Given the description of an element on the screen output the (x, y) to click on. 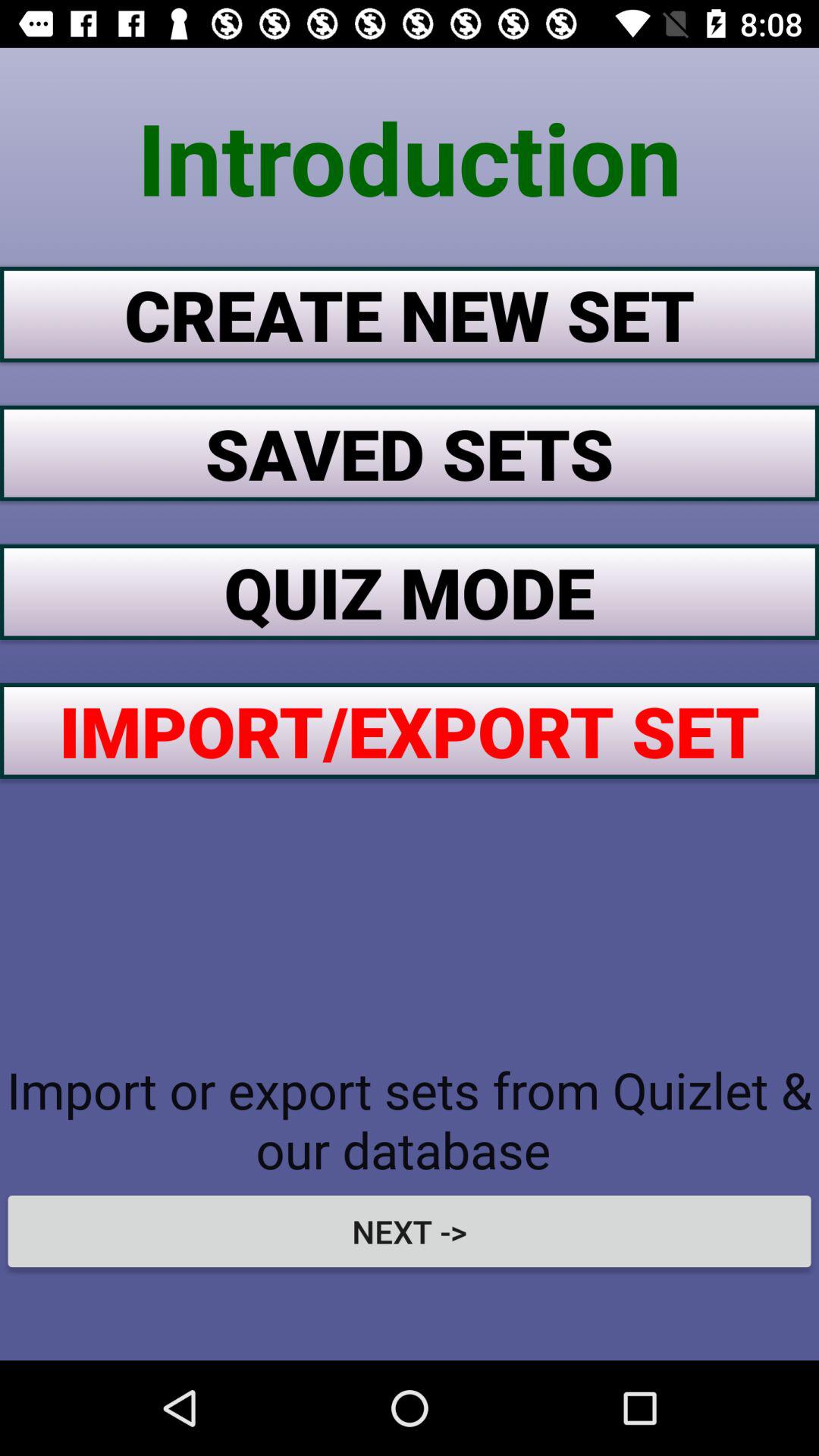
select create new set button (409, 314)
